Given the description of an element on the screen output the (x, y) to click on. 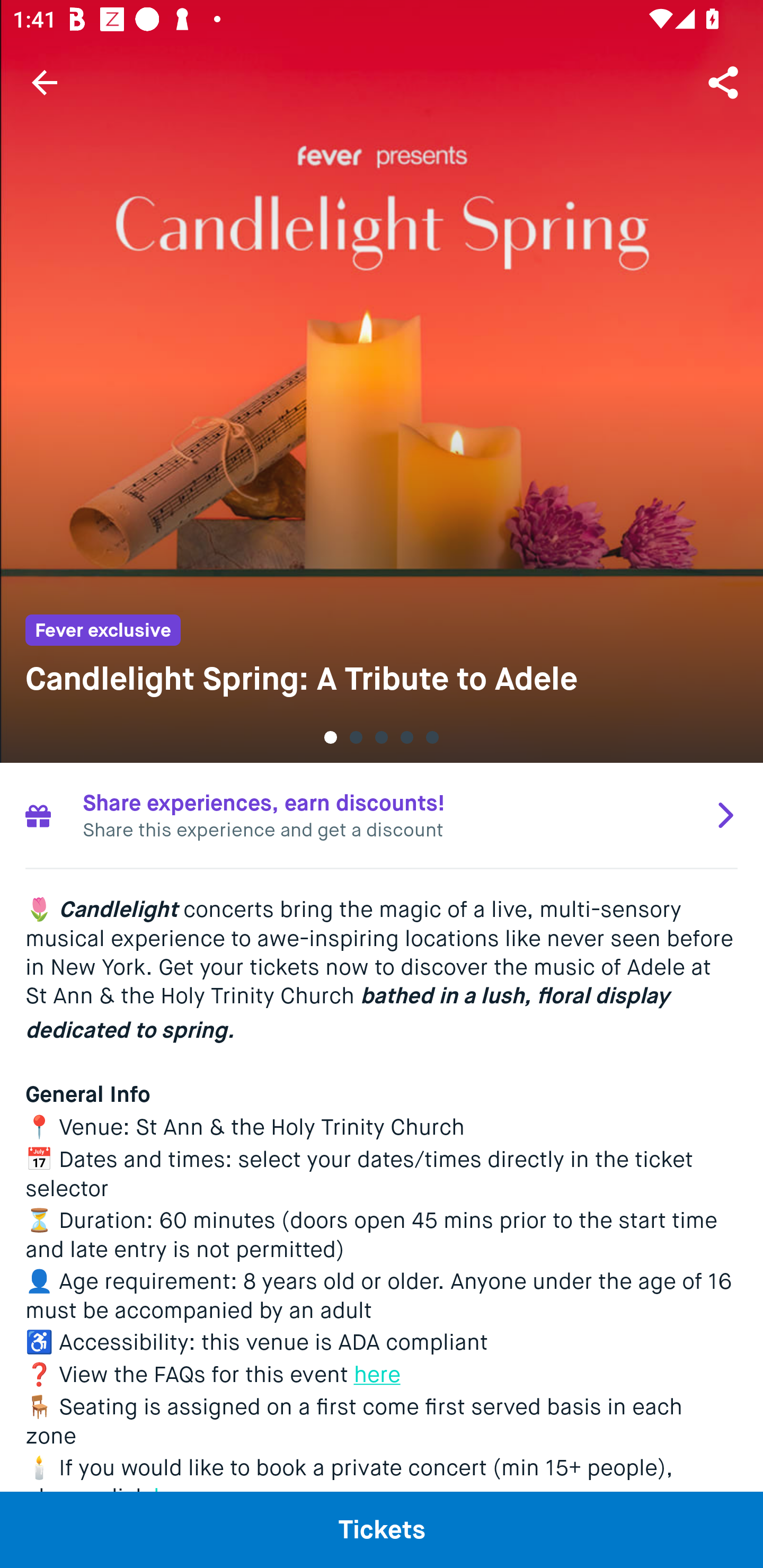
Navigate up (44, 82)
Share (724, 81)
Tickets (381, 1529)
